Given the description of an element on the screen output the (x, y) to click on. 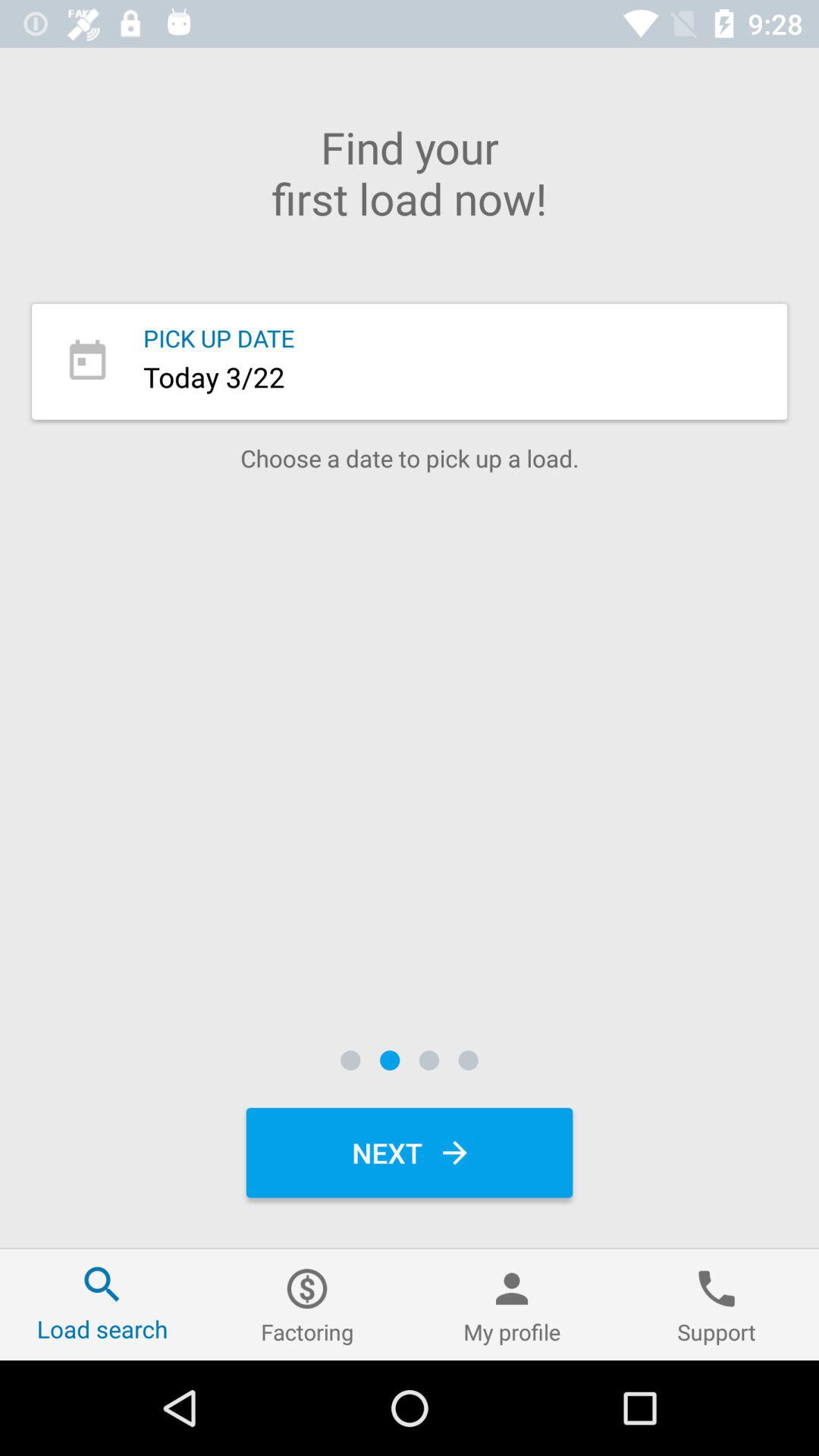
flip until the next     item (409, 1152)
